Given the description of an element on the screen output the (x, y) to click on. 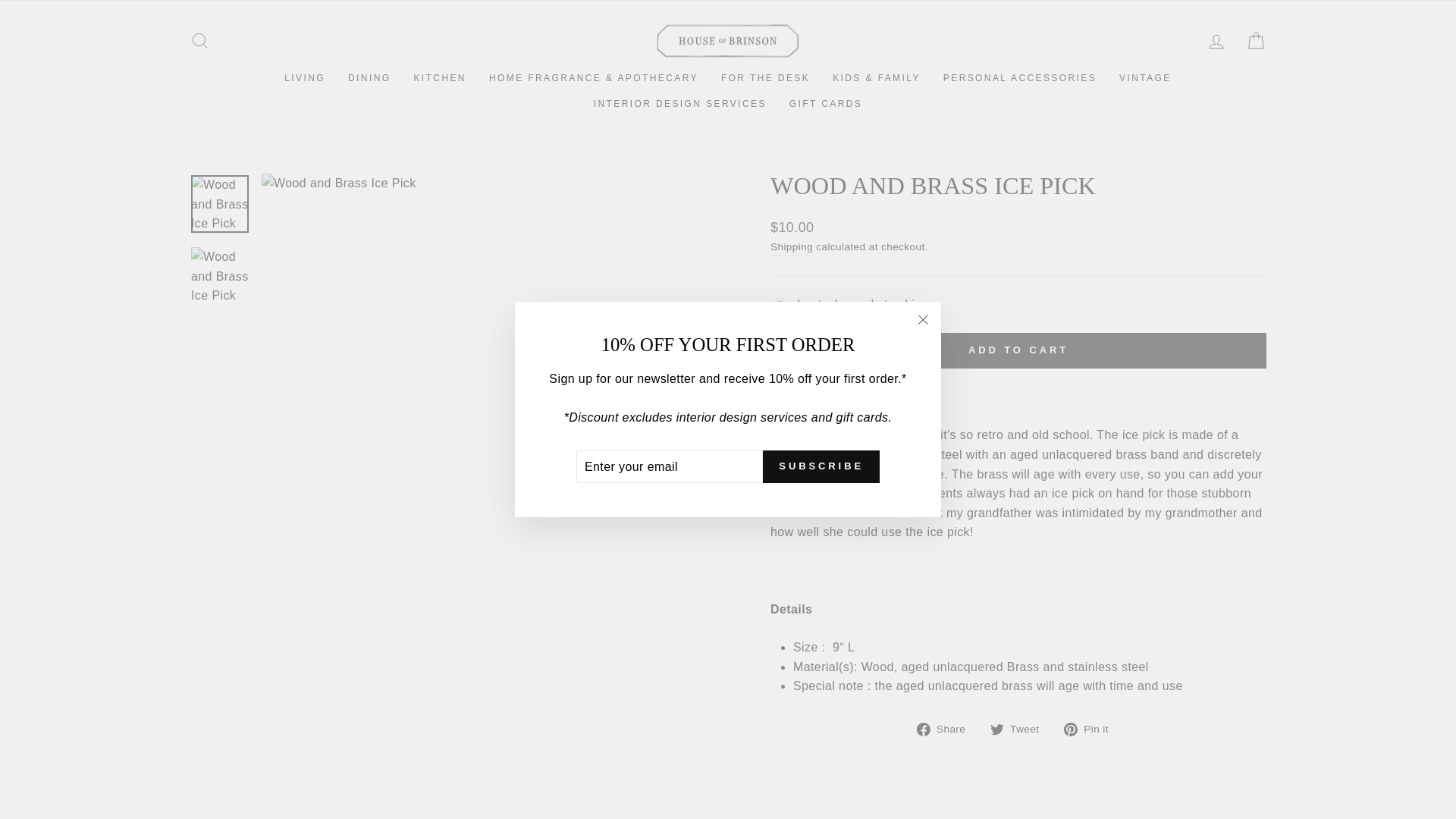
Share on Facebook (946, 728)
Tweet on Twitter (1019, 728)
Pin on Pinterest (1091, 728)
